Given the description of an element on the screen output the (x, y) to click on. 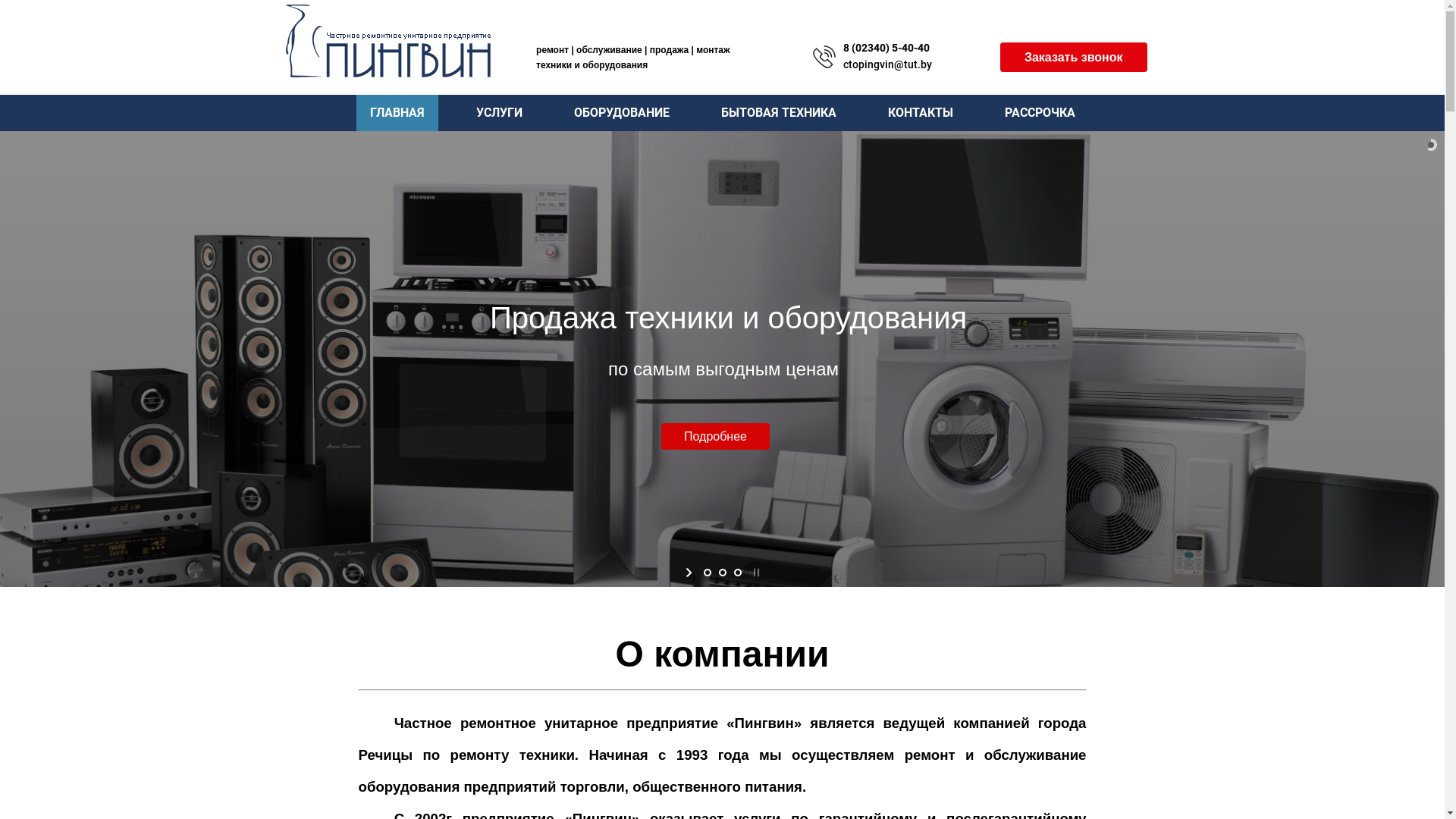
8 (02340) 5-40-40 Element type: text (886, 47)
ctopingvin@tut.by Element type: text (887, 64)
